Given the description of an element on the screen output the (x, y) to click on. 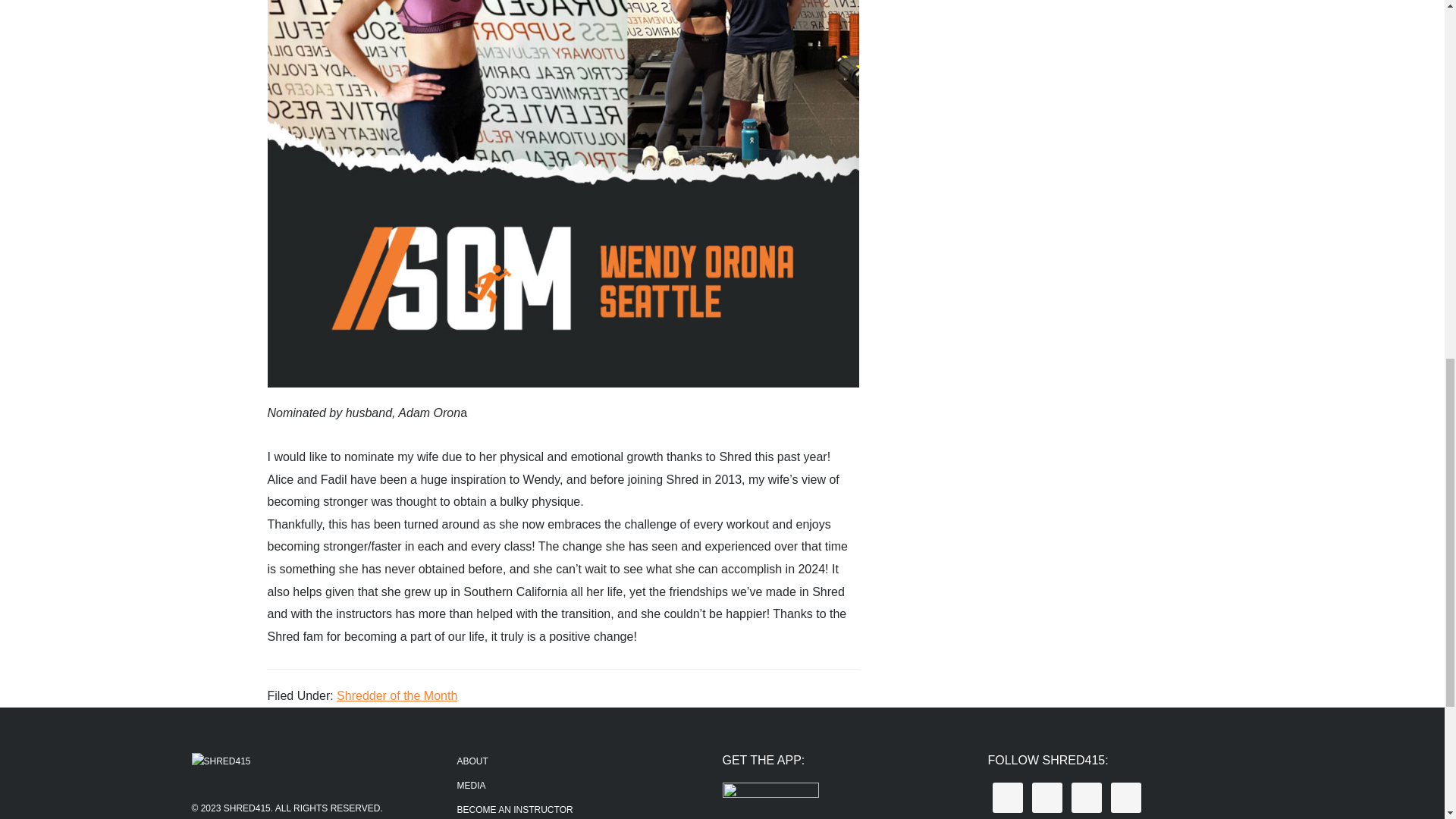
ABOUT (472, 760)
MEDIA (470, 785)
BECOME AN INSTRUCTOR (514, 809)
Shredder of the Month (396, 695)
